Given the description of an element on the screen output the (x, y) to click on. 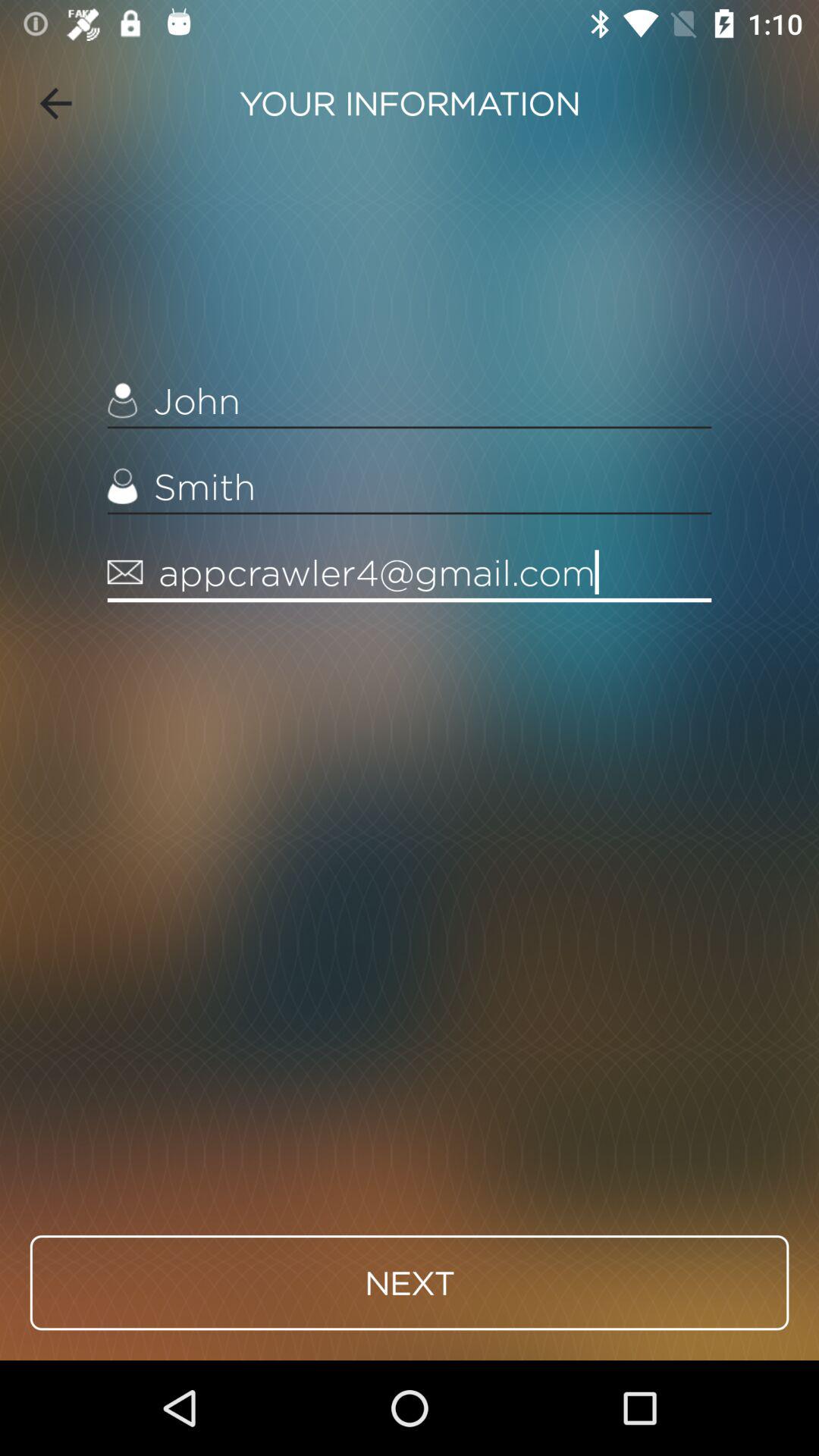
choose icon to the left of your information (55, 103)
